Given the description of an element on the screen output the (x, y) to click on. 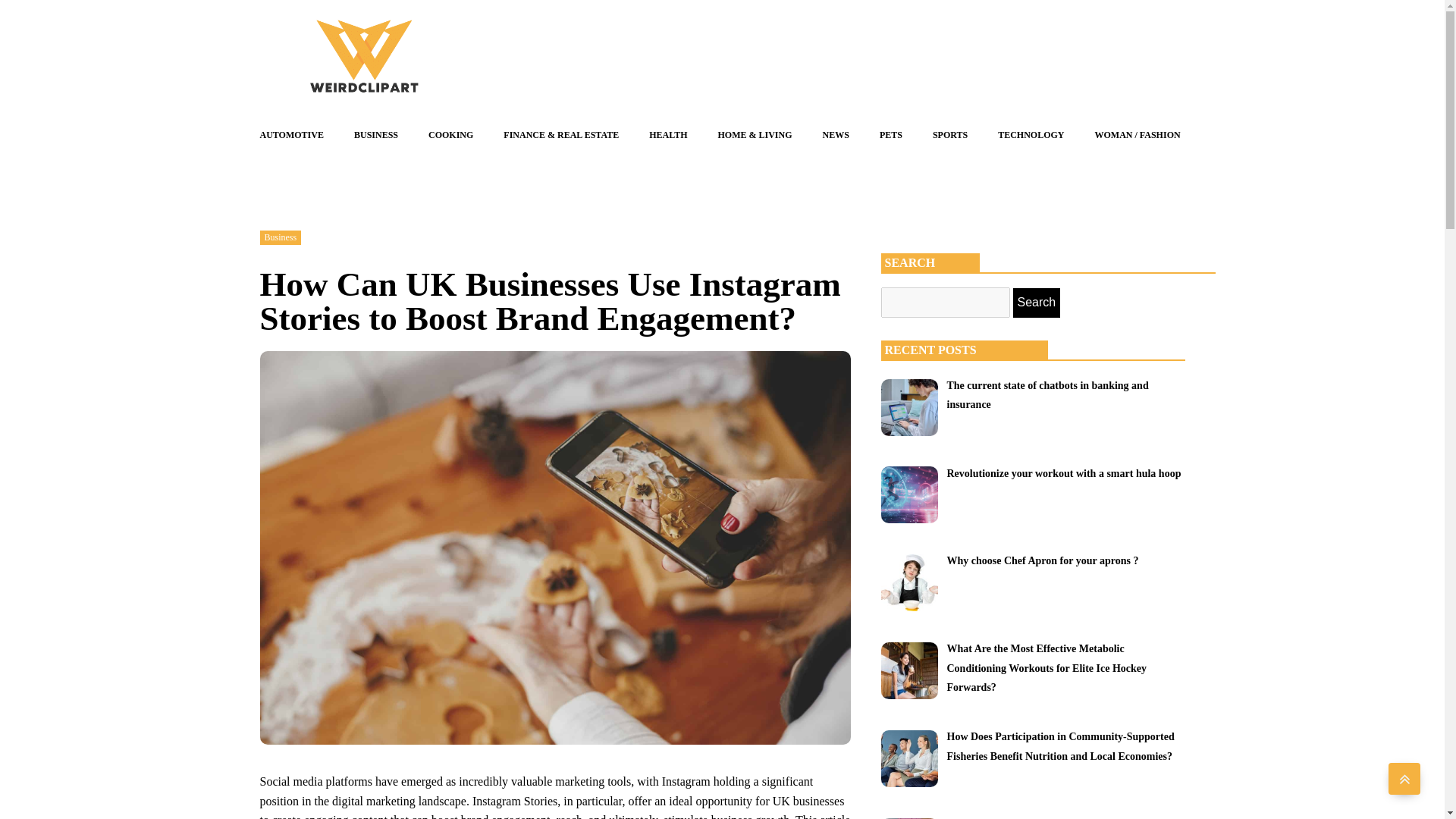
Business (280, 236)
Why choose Chef Apron for your aprons ? (1042, 559)
SPORTS (949, 135)
BUSINESS (376, 135)
Revolutionize your workout with a smart hula hoop (1063, 472)
COOKING (450, 135)
The current state of chatbots in banking and insurance (1047, 394)
